Given the description of an element on the screen output the (x, y) to click on. 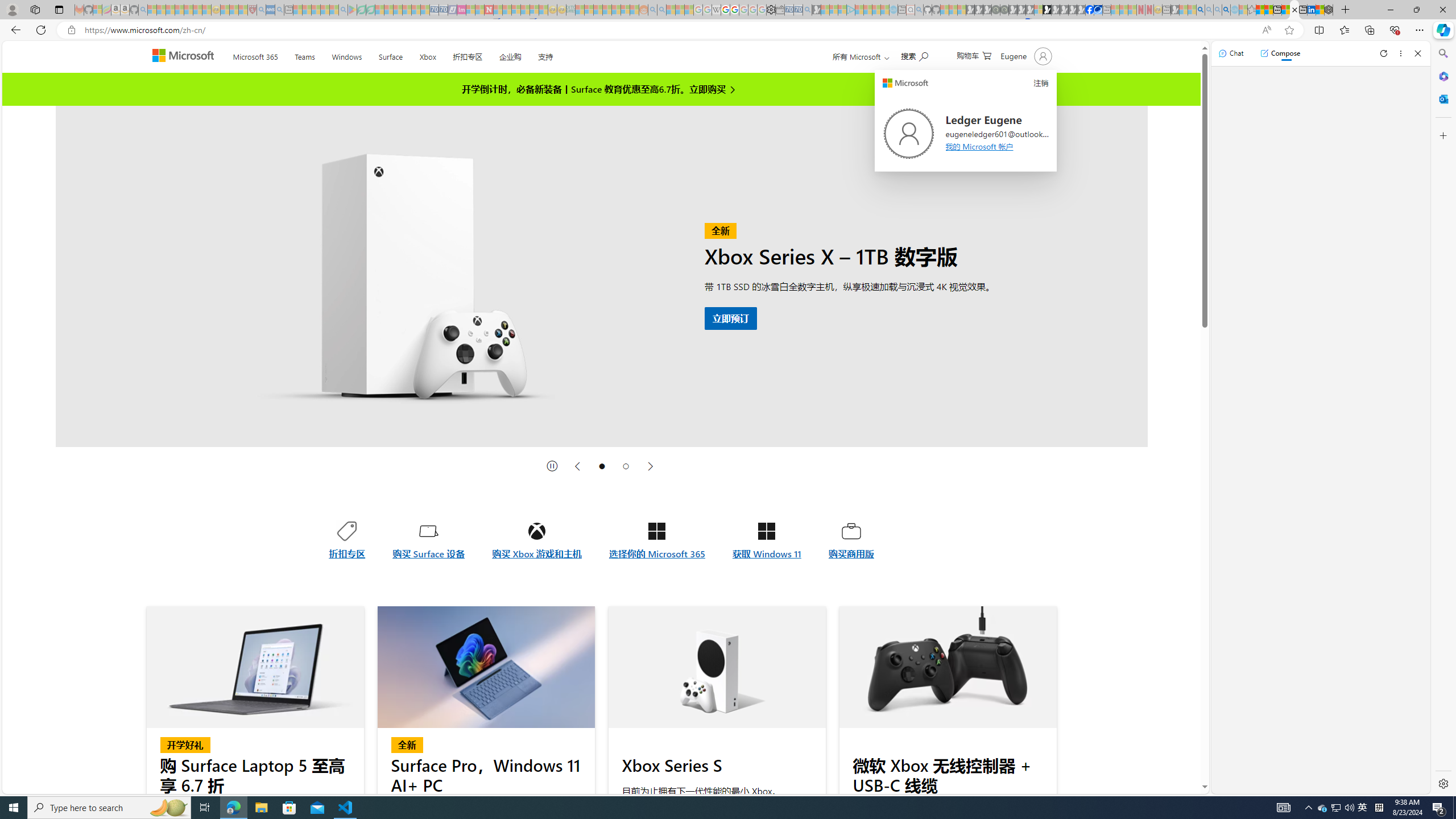
Home | Sky Blue Bikes - Sky Blue Bikes - Sleeping (892, 9)
Compose (1279, 52)
Cheap Car Rentals - Save70.com - Sleeping (798, 9)
Settings (1442, 783)
Nordace - Summer Adventures 2024 (1328, 9)
Microsoft 365 (1442, 76)
Close Outlook pane (1442, 98)
